Given the description of an element on the screen output the (x, y) to click on. 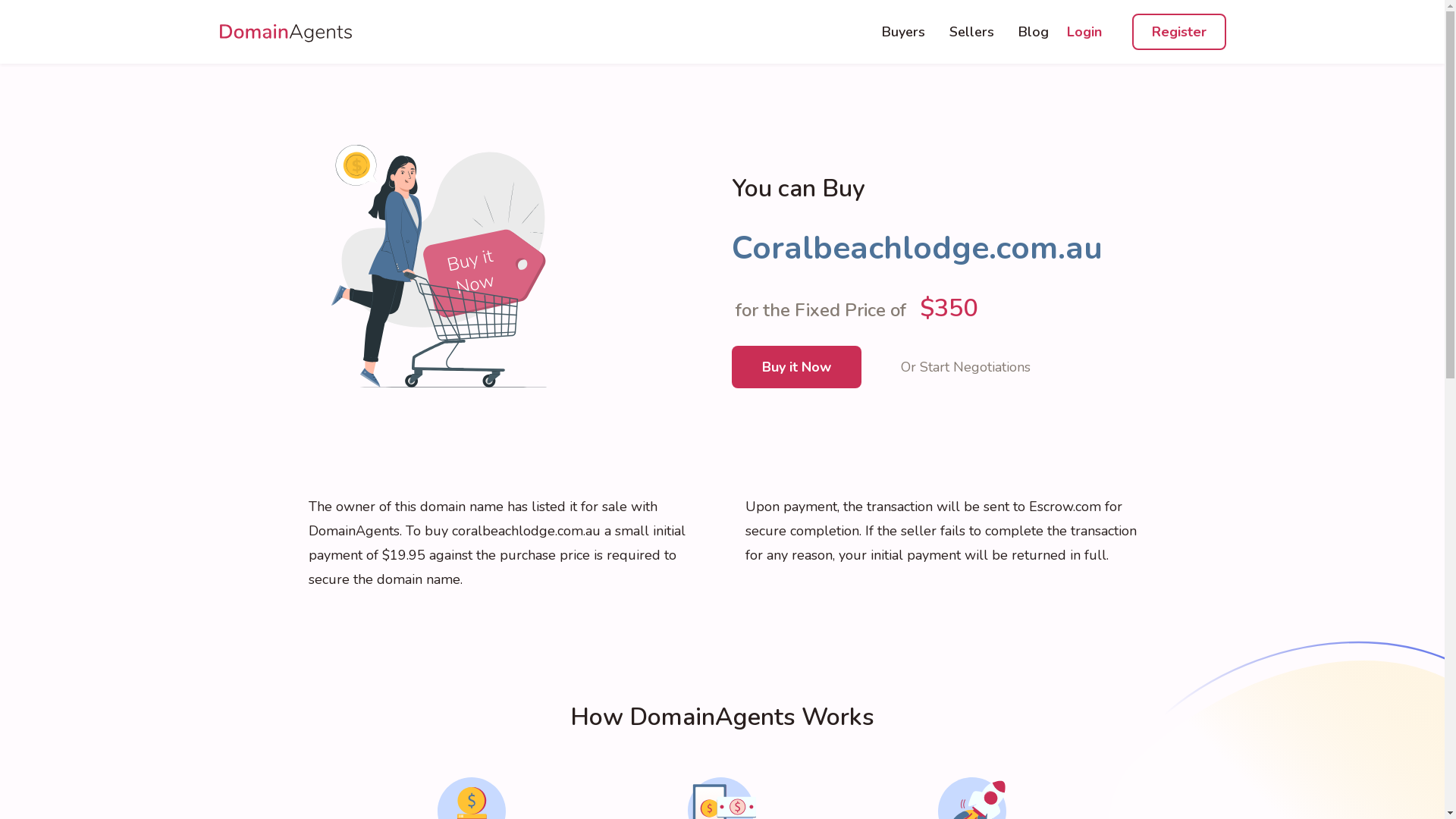
Or Start Negotiations Element type: text (965, 366)
Buyers Element type: text (902, 31)
Login Element type: text (1083, 31)
Register Element type: text (1178, 31)
Blog Element type: text (1032, 31)
Buy it Now Element type: text (795, 366)
Sellers Element type: text (971, 31)
